Given the description of an element on the screen output the (x, y) to click on. 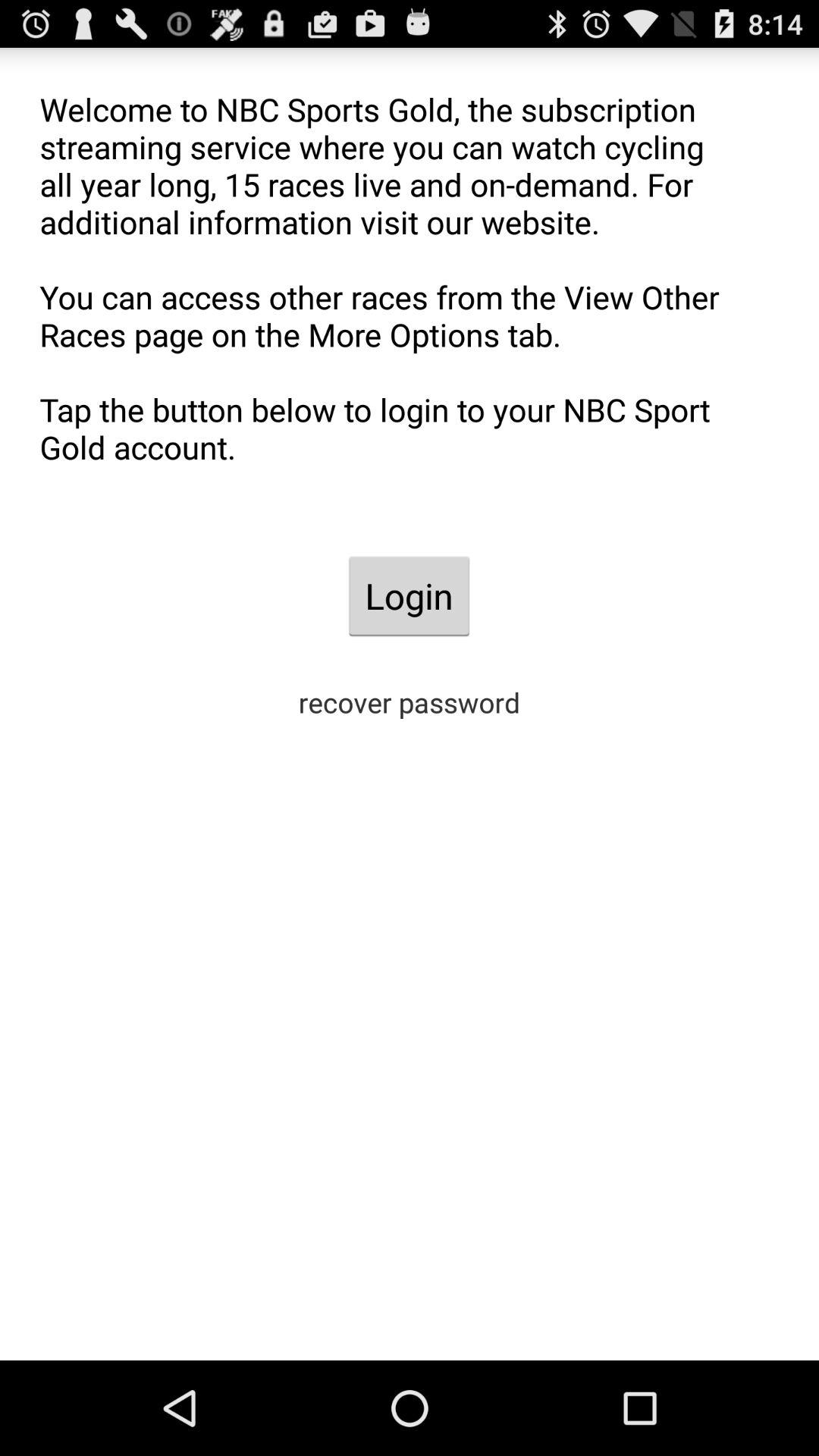
open button below login icon (409, 702)
